Given the description of an element on the screen output the (x, y) to click on. 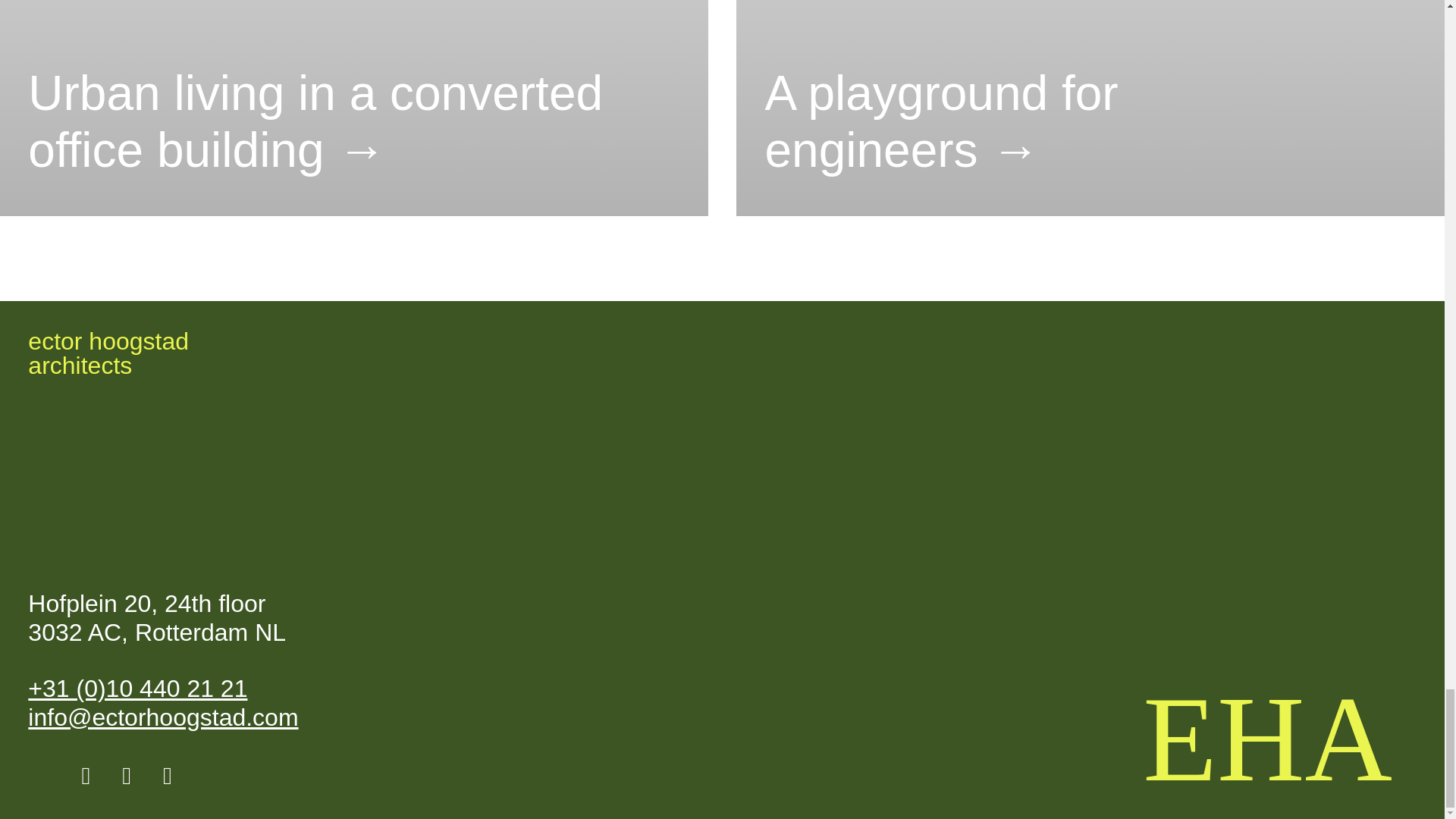
Read more (108, 353)
Urban living in a converted office building (1089, 121)
